Given the description of an element on the screen output the (x, y) to click on. 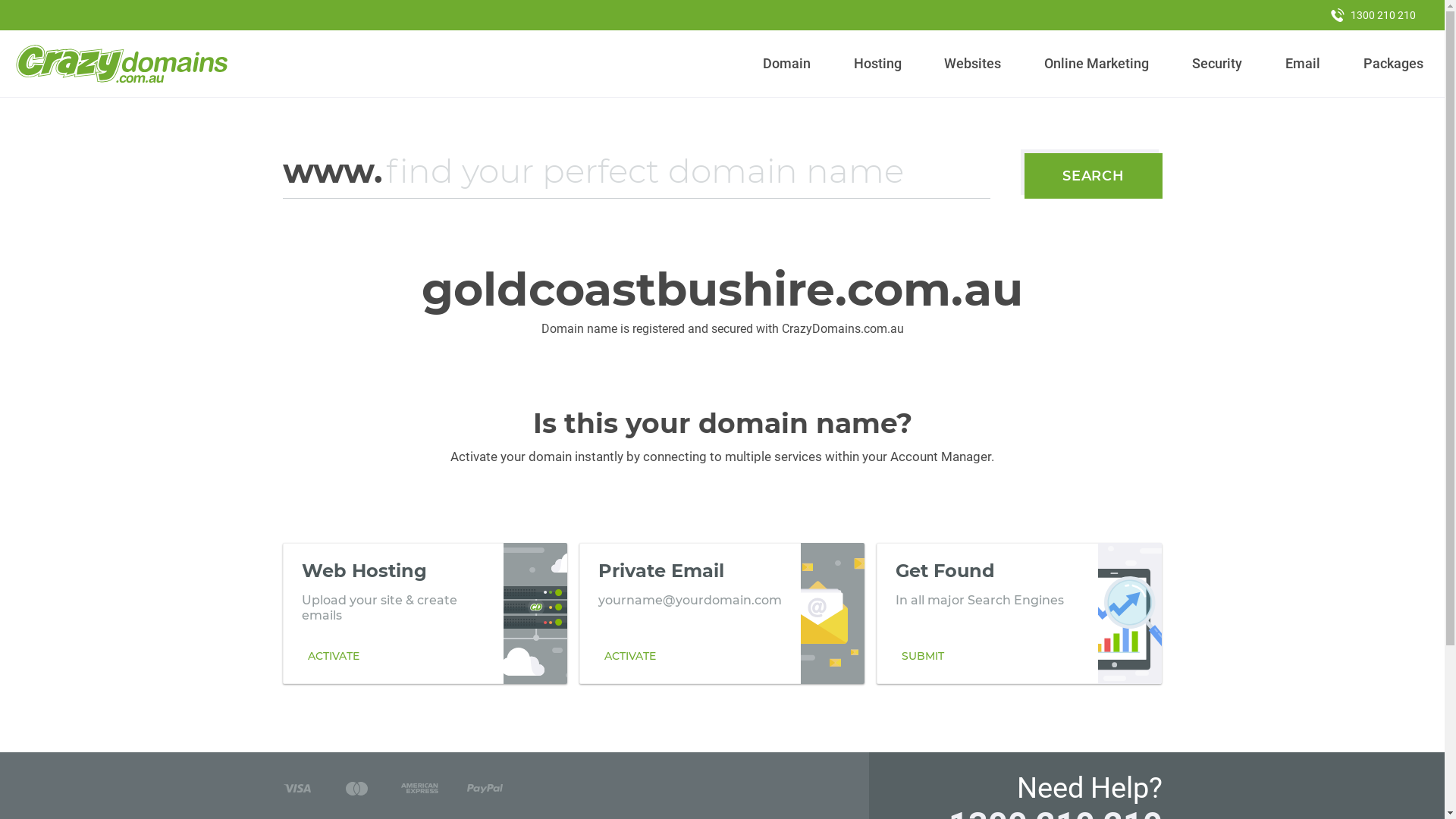
SEARCH Element type: text (1092, 175)
Domain Element type: text (786, 63)
Email Element type: text (1302, 63)
Packages Element type: text (1392, 63)
Hosting Element type: text (877, 63)
Security Element type: text (1217, 63)
Websites Element type: text (972, 63)
Web Hosting
Upload your site & create emails
ACTIVATE Element type: text (424, 613)
Private Email
yourname@yourdomain.com
ACTIVATE Element type: text (721, 613)
1300 210 210 Element type: text (1373, 15)
Get Found
In all major Search Engines
SUBMIT Element type: text (1018, 613)
Online Marketing Element type: text (1096, 63)
